Given the description of an element on the screen output the (x, y) to click on. 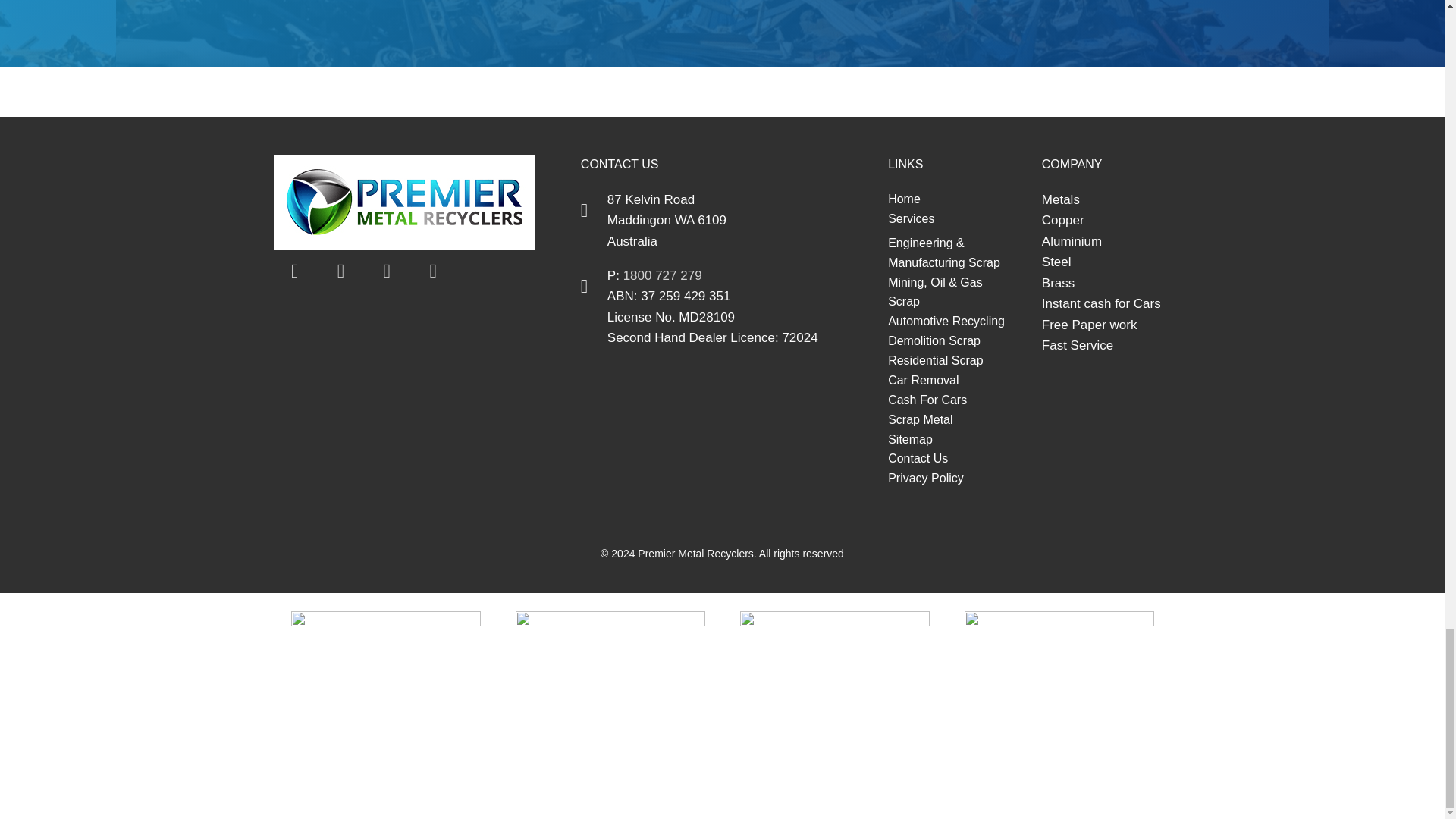
Facebook (294, 271)
Instagram (432, 271)
Twitter (340, 271)
linkedin (386, 271)
